Given the description of an element on the screen output the (x, y) to click on. 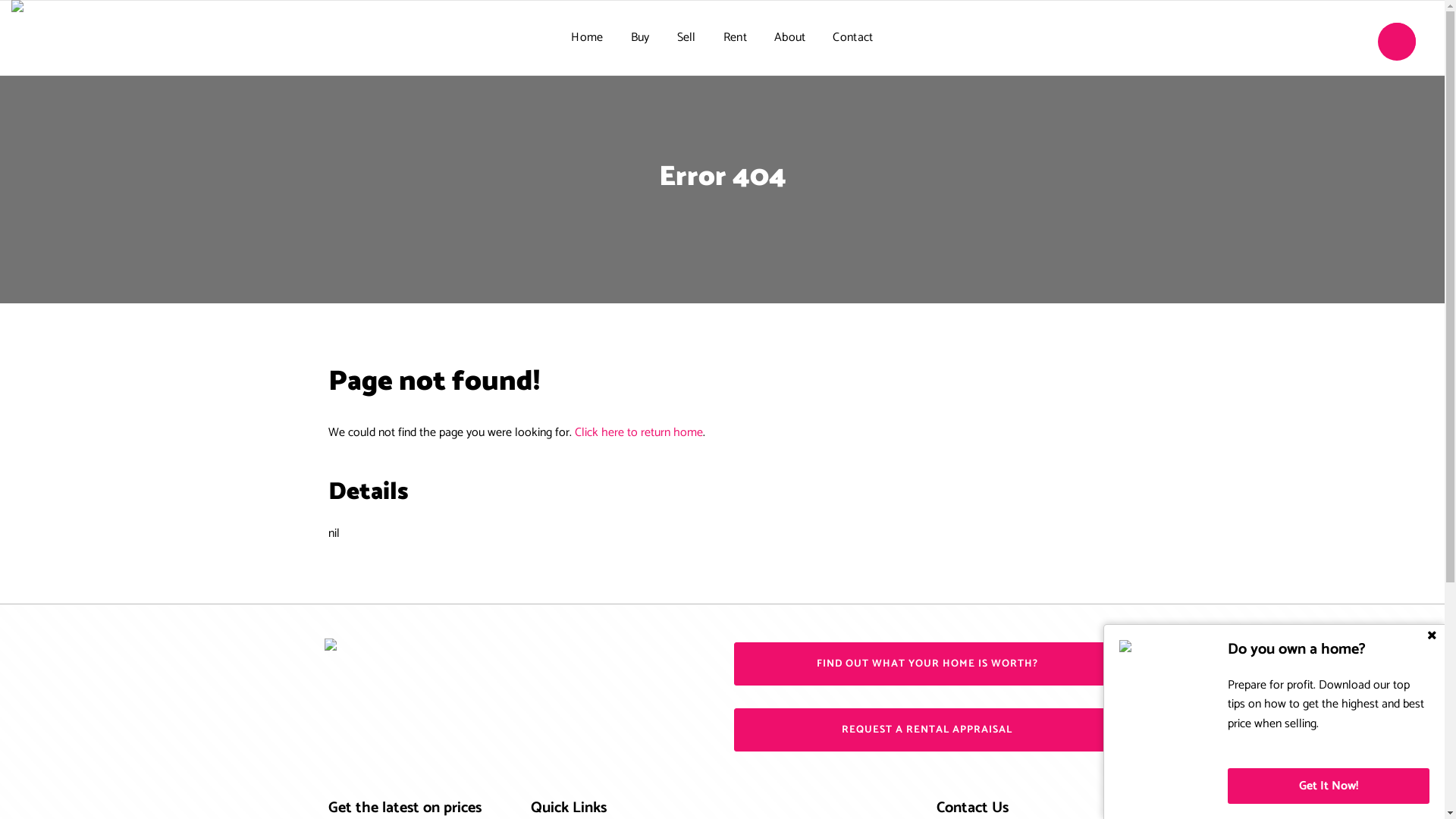
FIND OUT WHAT YOUR HOME IS WORTH? Element type: text (927, 663)
Get It Now! Element type: text (1328, 785)
Sell Element type: text (686, 37)
About Element type: text (790, 37)
Buy Element type: text (639, 37)
Click here to return home Element type: text (638, 432)
REQUEST A RENTAL APPRAISAL Element type: text (927, 729)
Home Element type: text (586, 37)
Contact Element type: text (852, 37)
Rent Element type: text (734, 37)
